Given the description of an element on the screen output the (x, y) to click on. 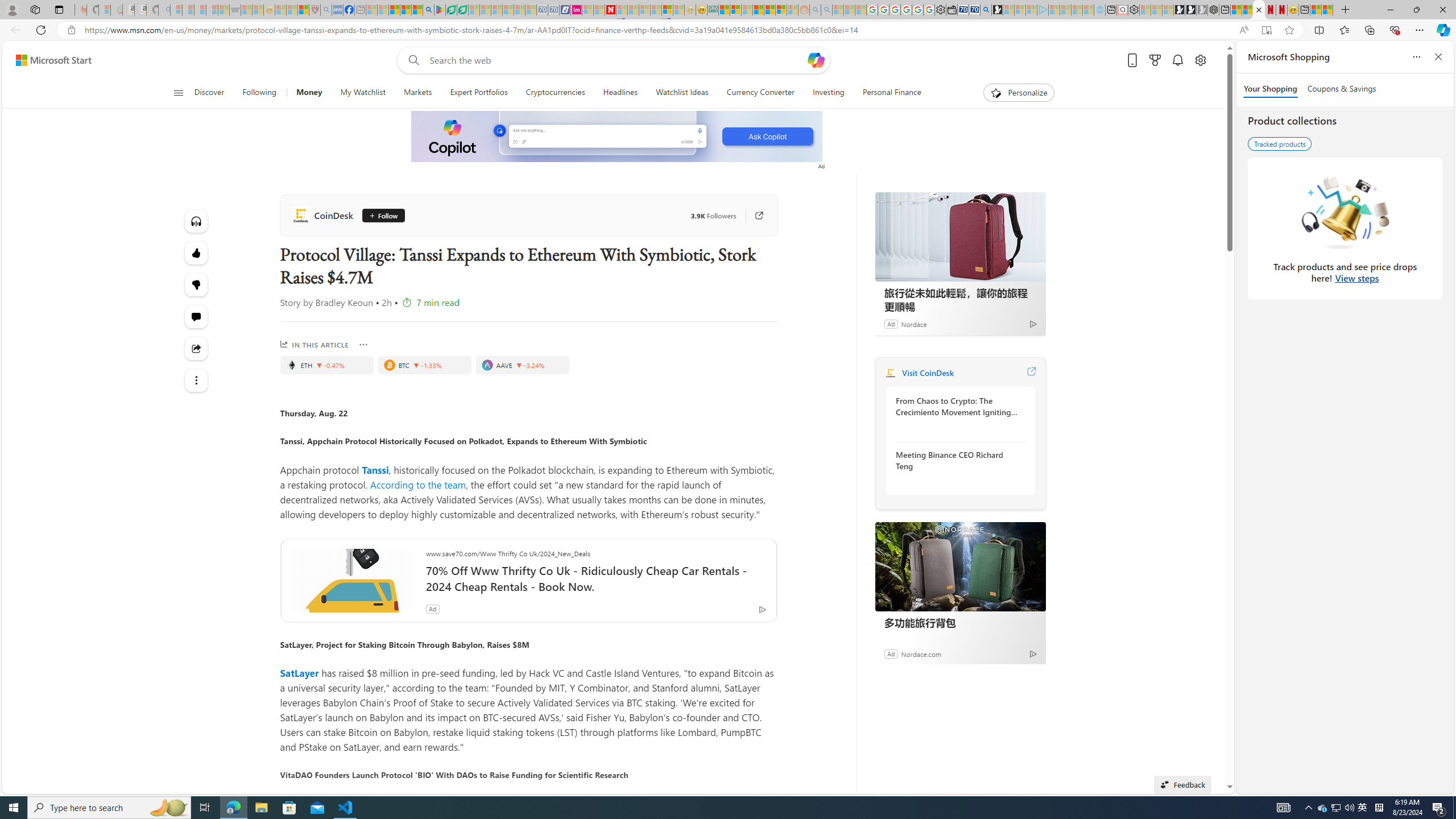
Microsoft Word - consumer-privacy address update 2.2021 (462, 9)
According to the team (417, 483)
